Given the description of an element on the screen output the (x, y) to click on. 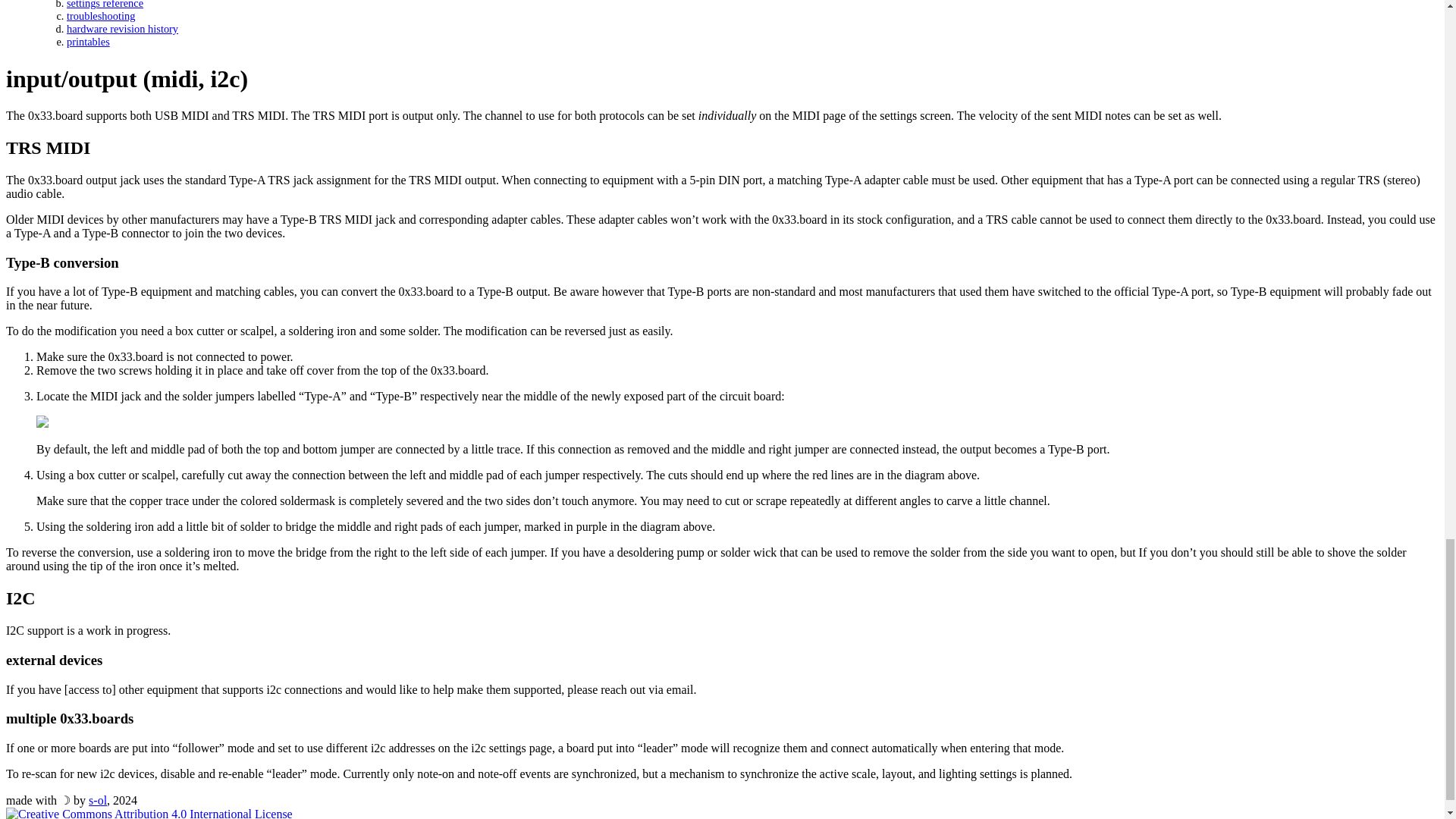
settings reference (104, 4)
s-ol (97, 799)
hardware revision history (121, 28)
troubleshooting (100, 15)
printables (88, 41)
